Given the description of an element on the screen output the (x, y) to click on. 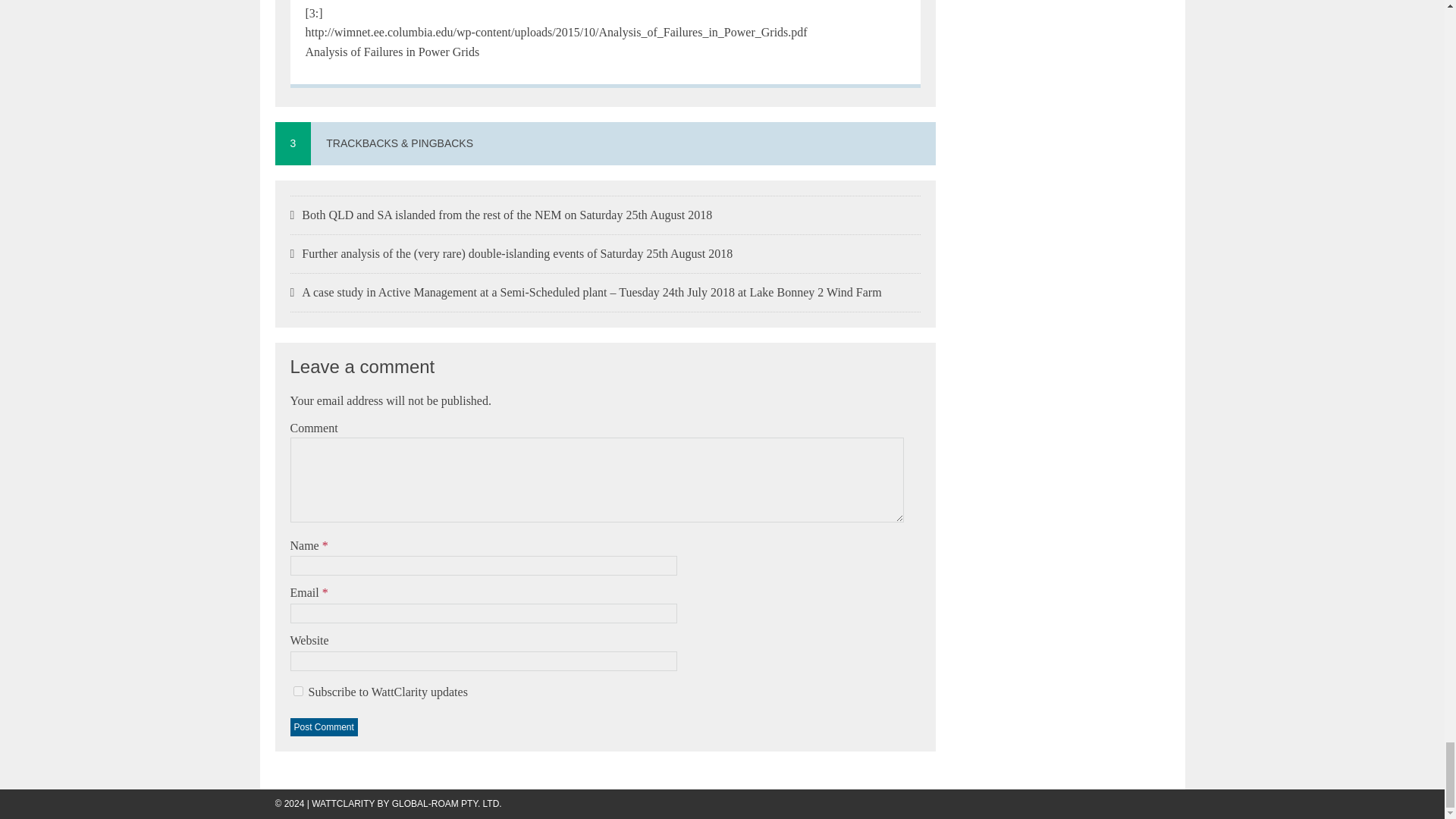
1 (297, 691)
Post Comment (322, 727)
